Given the description of an element on the screen output the (x, y) to click on. 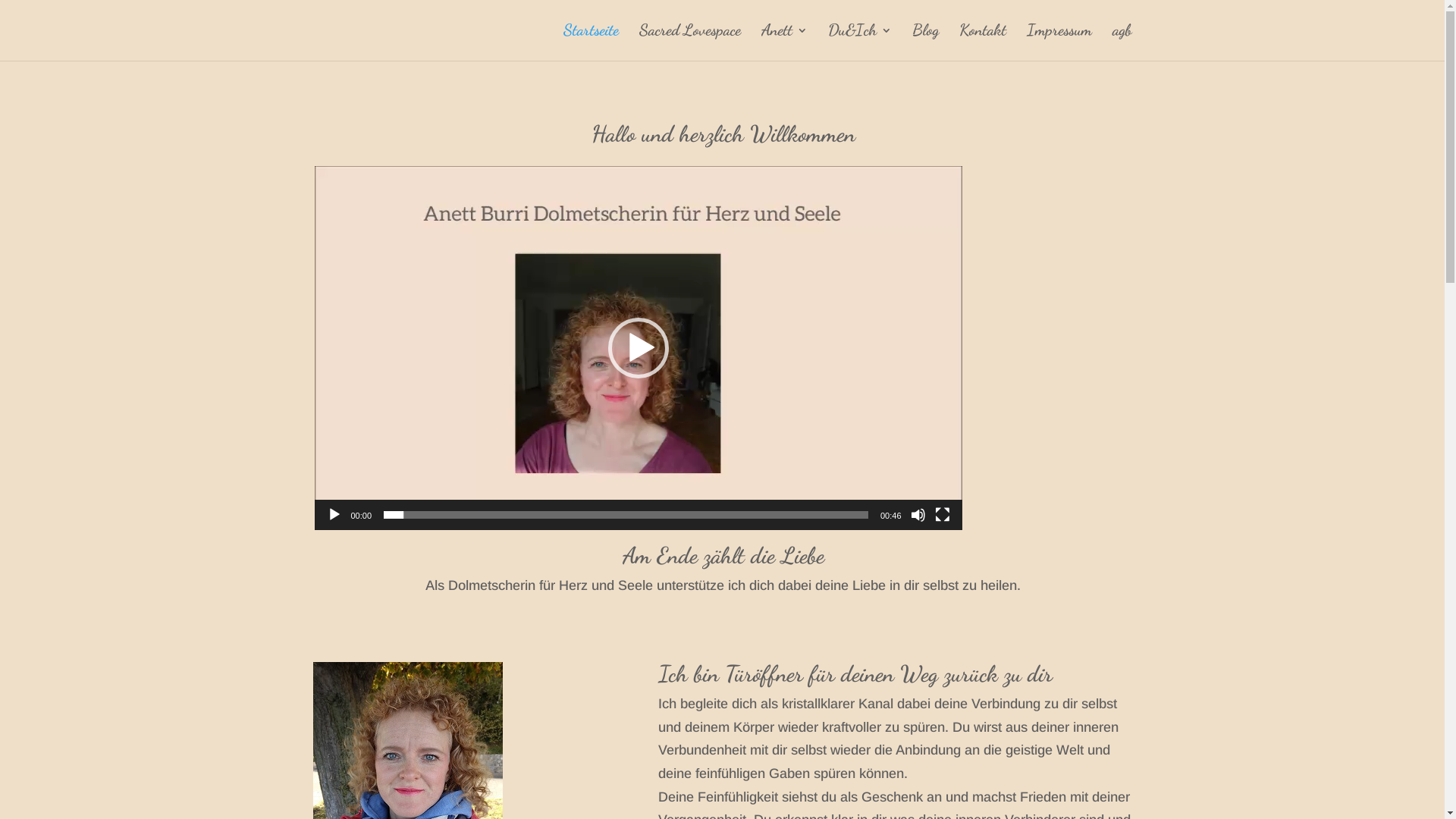
Sacred Lovespace Element type: text (689, 42)
agb Element type: text (1121, 42)
Kontakt Element type: text (981, 42)
Startseite Element type: text (590, 42)
Vollbild Element type: hover (941, 514)
Anett Element type: text (784, 42)
Abspielen Element type: hover (333, 514)
Du&Ich Element type: text (859, 42)
Impressum Element type: text (1059, 42)
Stumm Element type: hover (917, 514)
Blog Element type: text (924, 42)
